Given the description of an element on the screen output the (x, y) to click on. 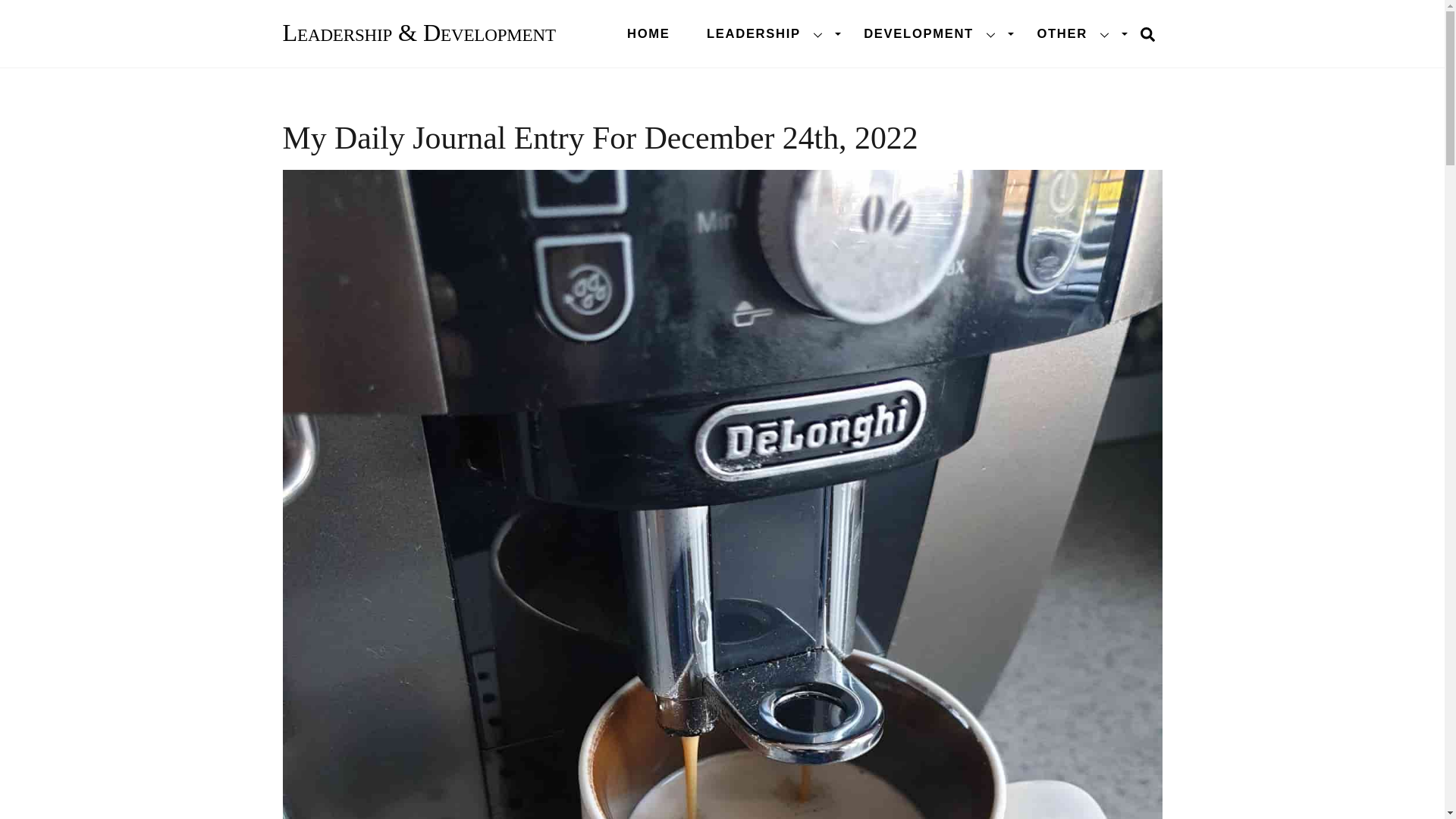
Search (1146, 33)
LEADERSHIP (721, 33)
HOME (766, 33)
DEVELOPMENT (648, 33)
